Given the description of an element on the screen output the (x, y) to click on. 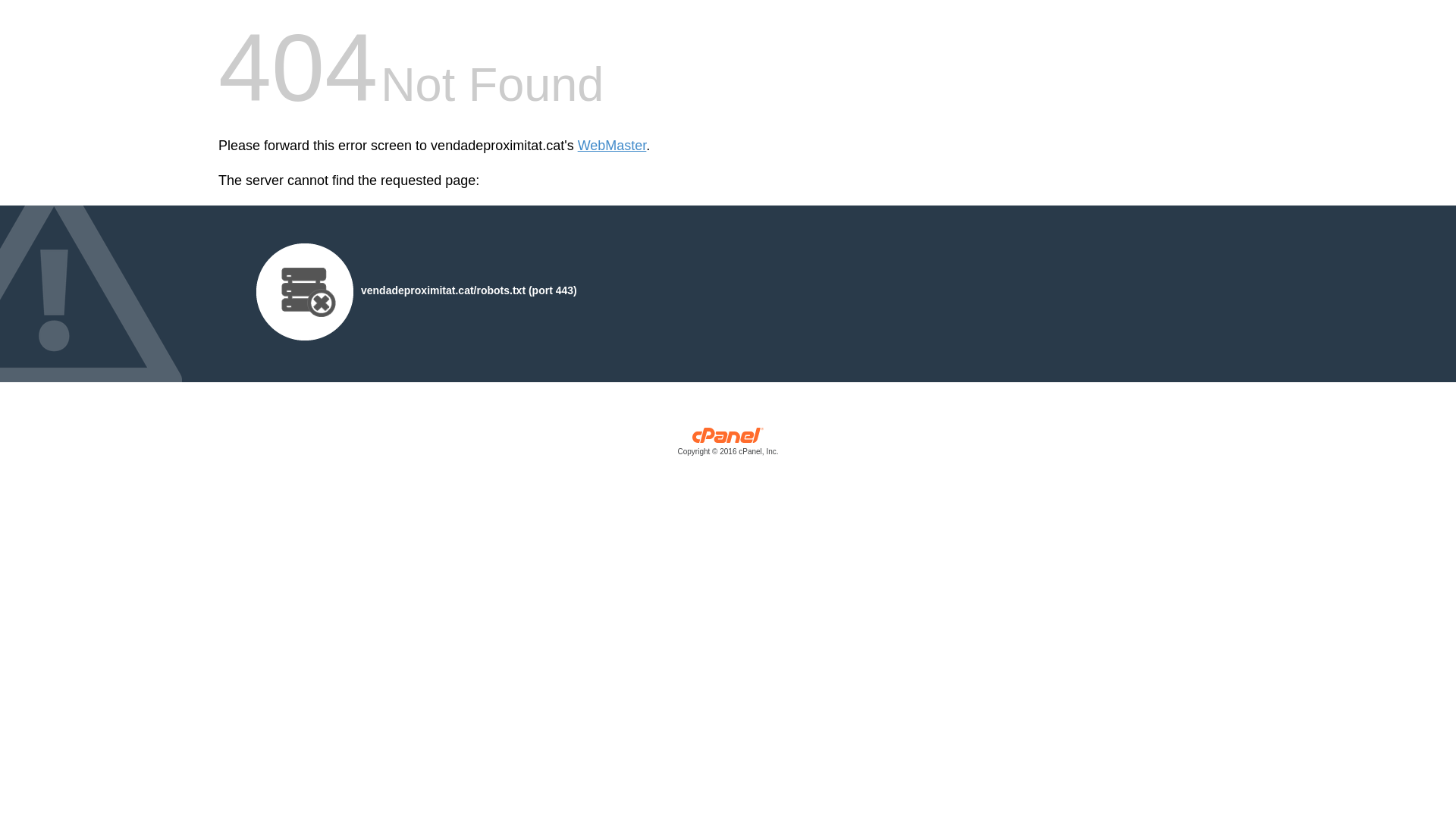
WebMaster Element type: text (611, 145)
